Given the description of an element on the screen output the (x, y) to click on. 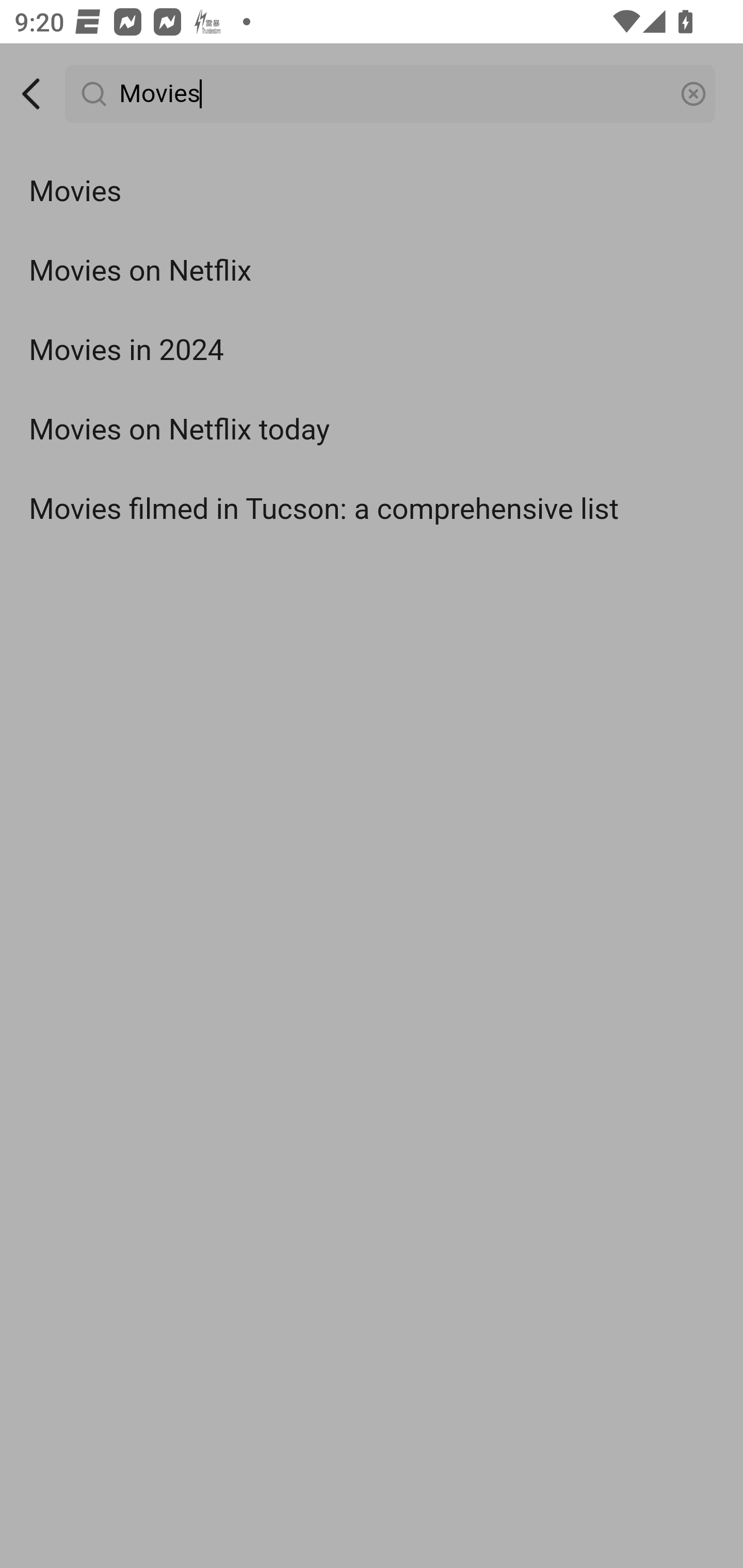
Movies (390, 93)
Movies (371, 192)
Movies on Netflix (371, 270)
Movies in 2024 (371, 351)
Movies on Netflix today (371, 430)
Movies filmed in Tucson: a comprehensive list (371, 508)
